Given the description of an element on the screen output the (x, y) to click on. 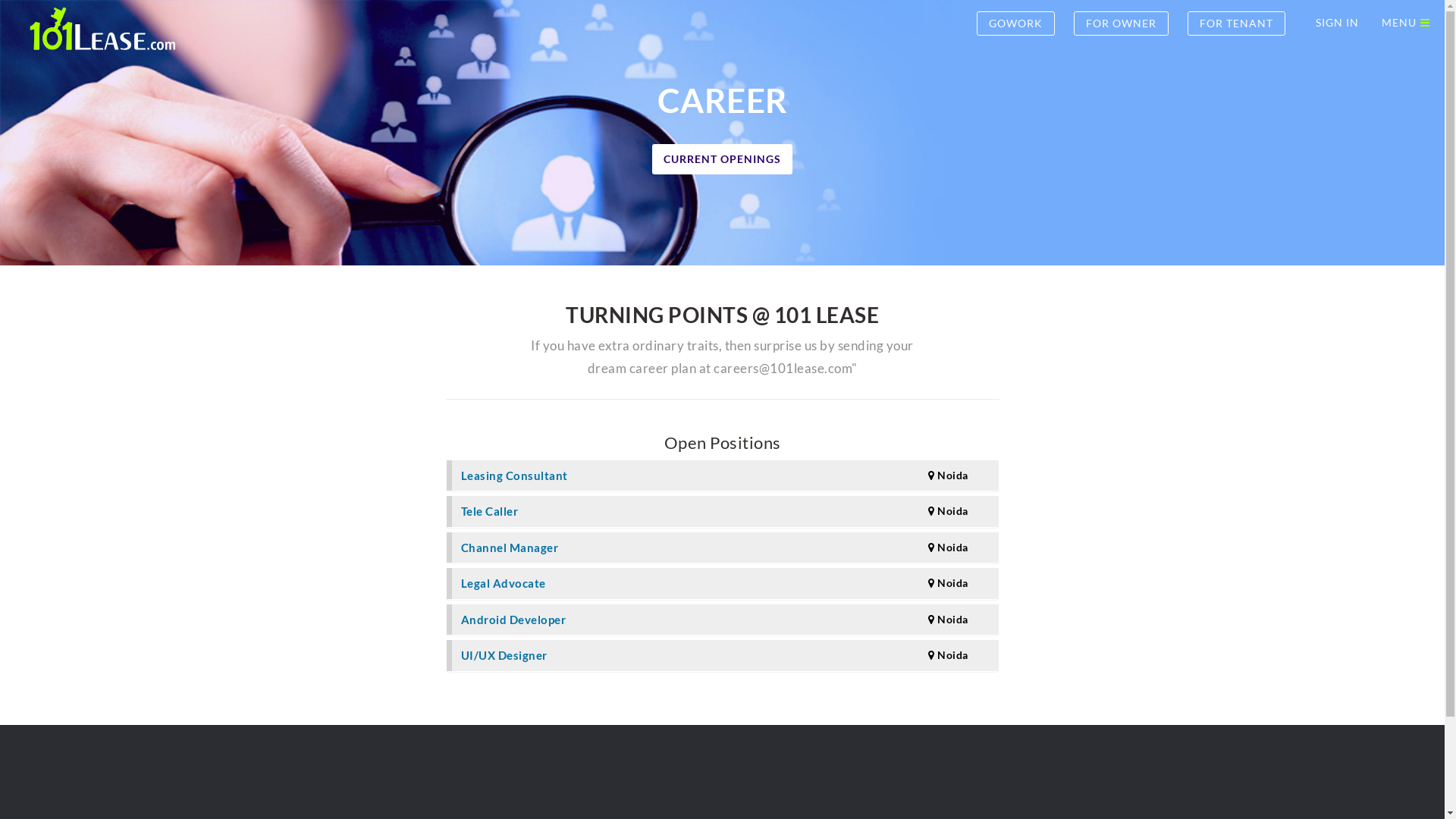
GOWORK Element type: text (1015, 23)
SIGN IN Element type: text (1337, 22)
Tele Caller
Noida Element type: text (725, 511)
Channel Manager
Noida Element type: text (725, 547)
FOR TENANT Element type: text (1236, 23)
FOR OWNER Element type: text (1120, 23)
UI/UX Designer
Noida Element type: text (725, 655)
MENU Element type: text (1393, 22)
CURRENT OPENINGS Element type: text (722, 159)
Legal Advocate
Noida Element type: text (725, 583)
Leasing Consultant
Noida Element type: text (725, 475)
Android Developer
Noida Element type: text (725, 619)
